Given the description of an element on the screen output the (x, y) to click on. 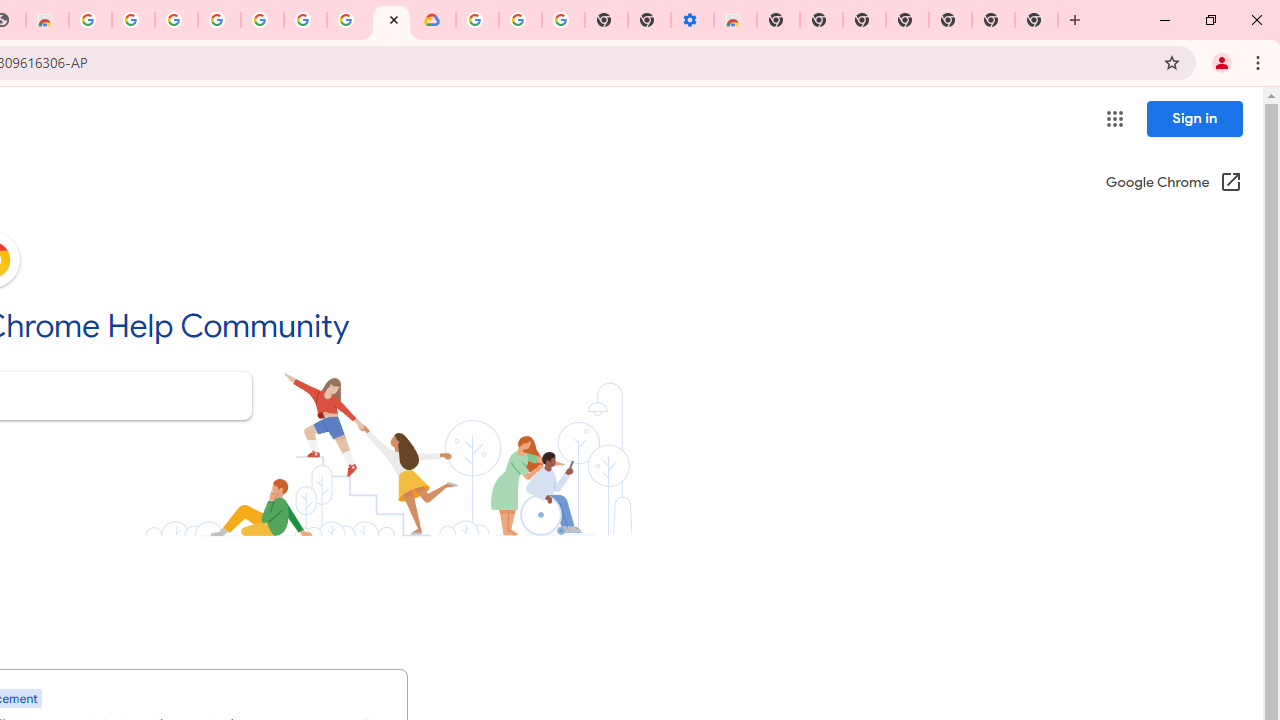
New Tab (1036, 20)
Settings - Accessibility (692, 20)
Sign in - Google Accounts (219, 20)
Turn cookies on or off - Computer - Google Account Help (562, 20)
Google Chrome (Open in a new window) (1173, 183)
Google Account Help (262, 20)
New Tab (777, 20)
